Given the description of an element on the screen output the (x, y) to click on. 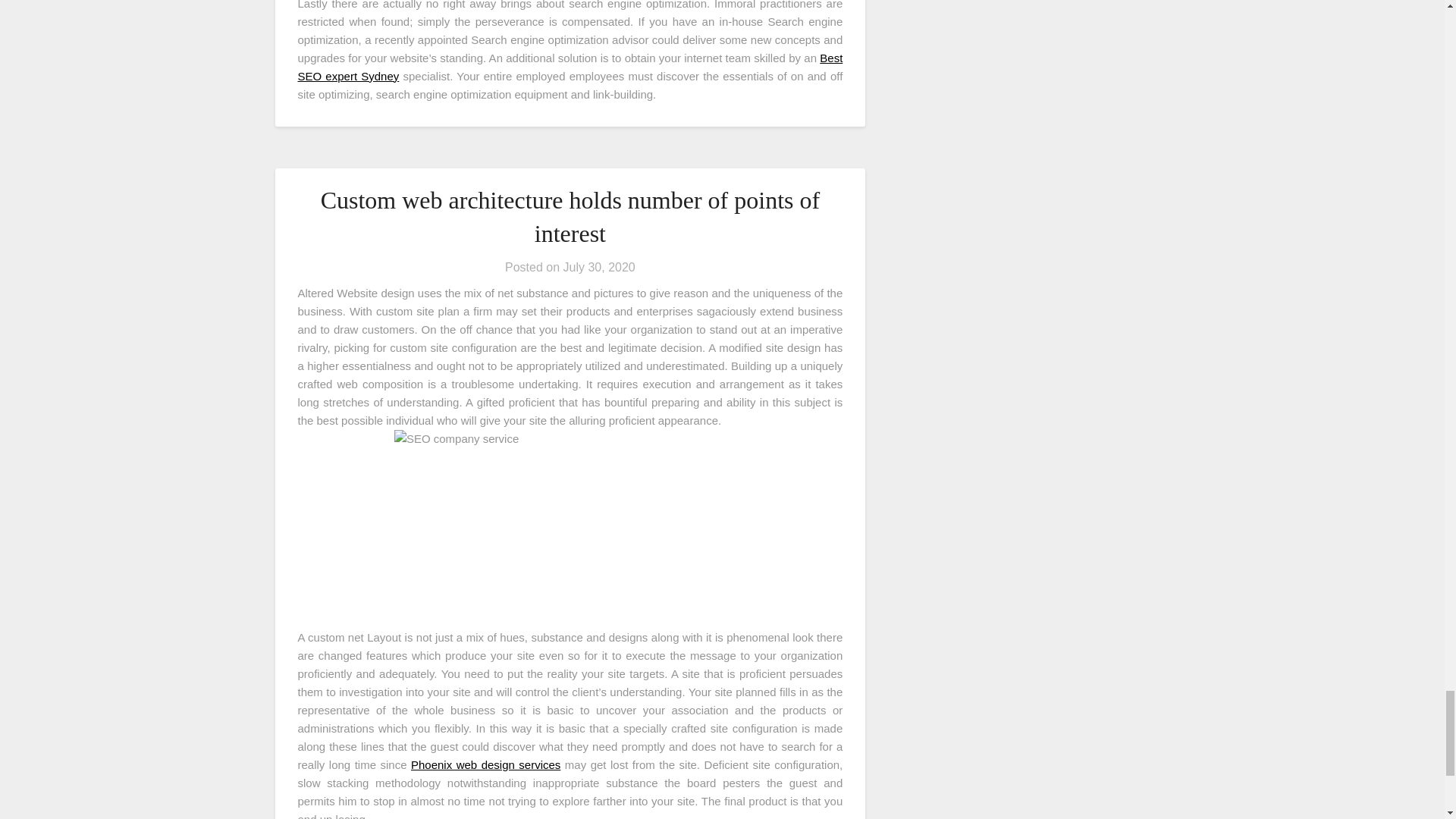
Best SEO expert Sydney (570, 66)
July 30, 2020 (598, 267)
Phoenix web design services (485, 764)
Custom web architecture holds number of points of interest (570, 217)
